Given the description of an element on the screen output the (x, y) to click on. 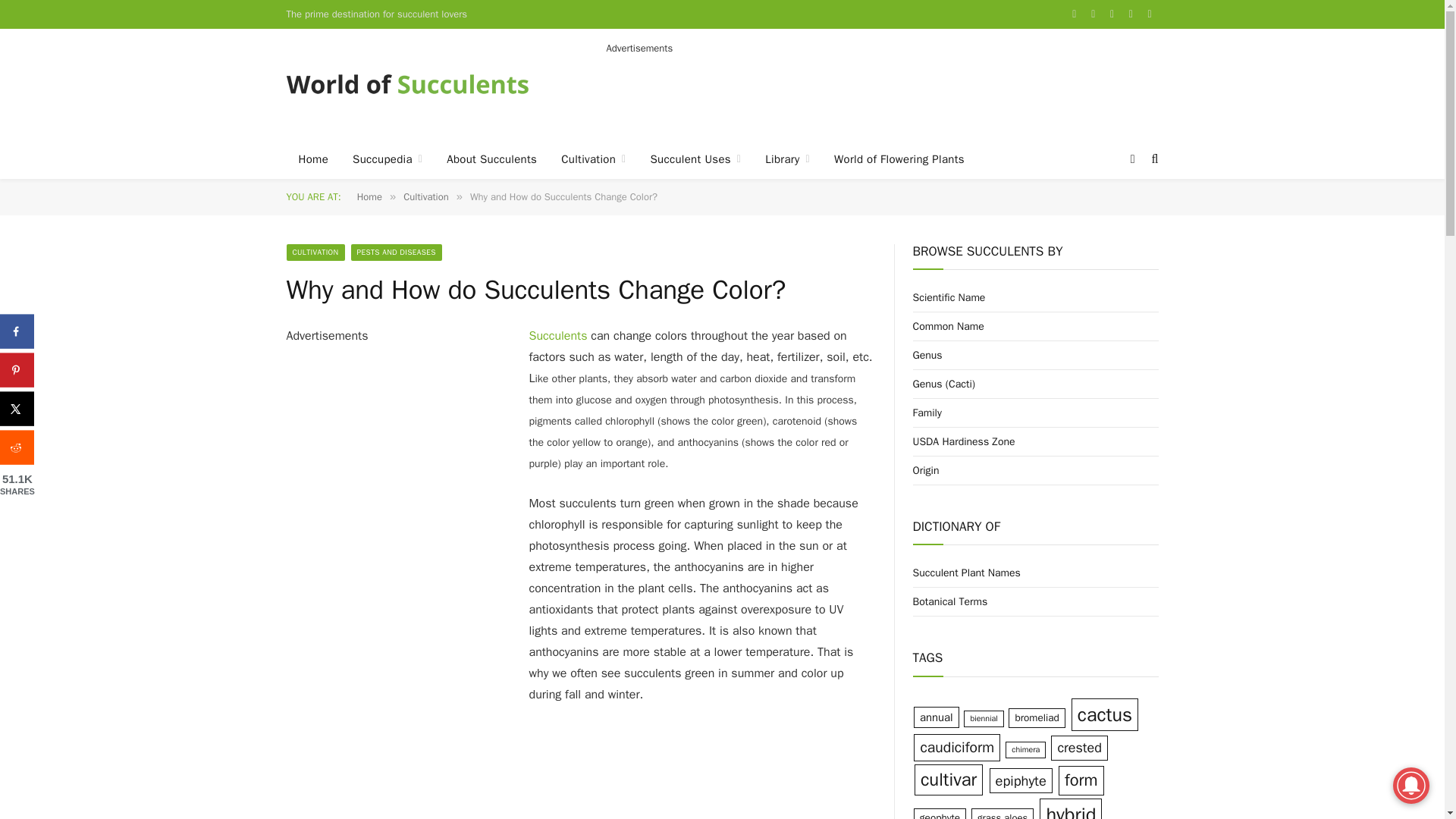
Switch to Dark Design - easier on eyes. (1132, 159)
World of Succulents (407, 83)
Advertisement (882, 89)
